Given the description of an element on the screen output the (x, y) to click on. 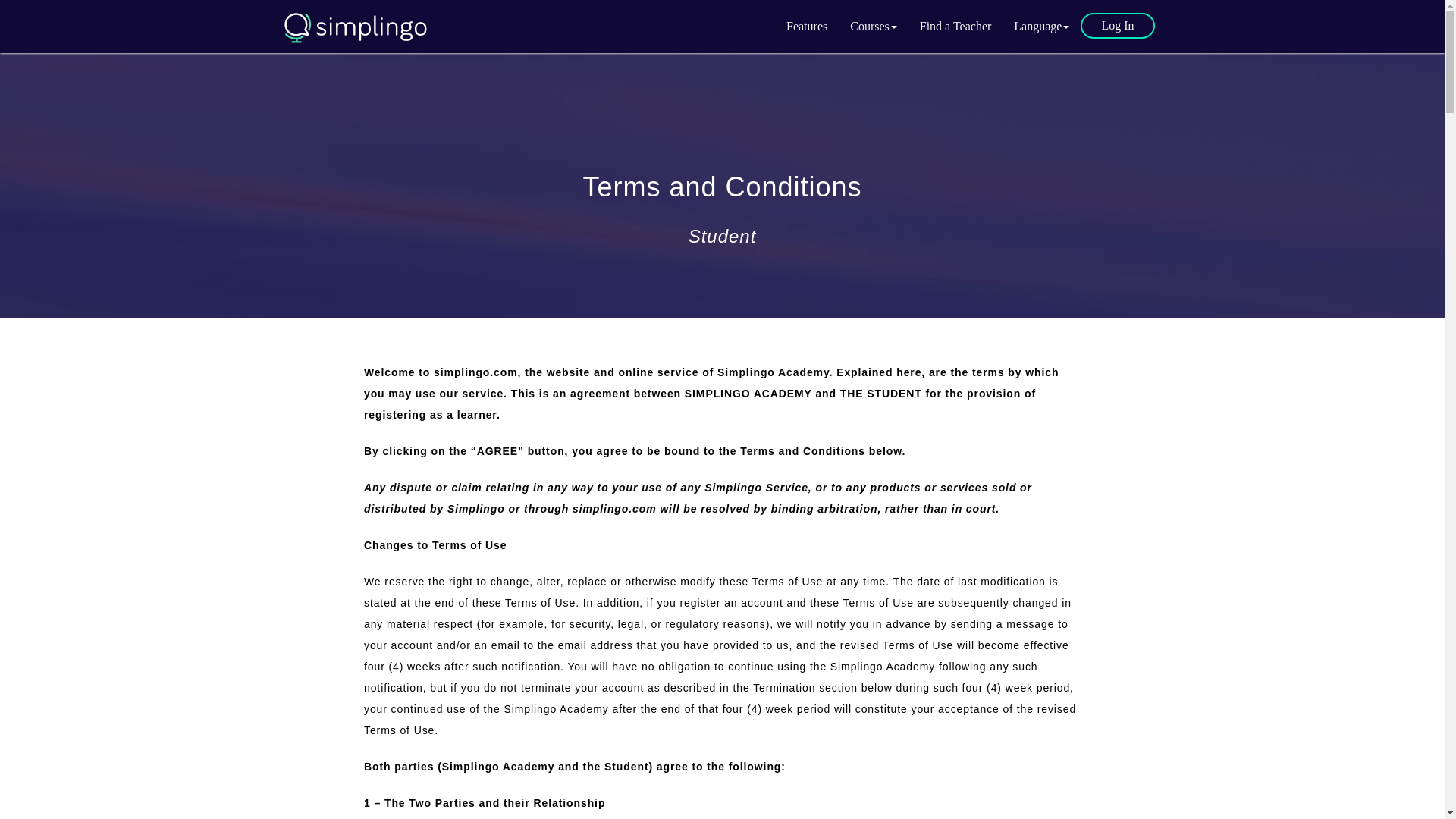
Courses (873, 26)
Log In (1117, 25)
Find a Teacher (955, 26)
Features (806, 26)
Language (1041, 26)
